Given the description of an element on the screen output the (x, y) to click on. 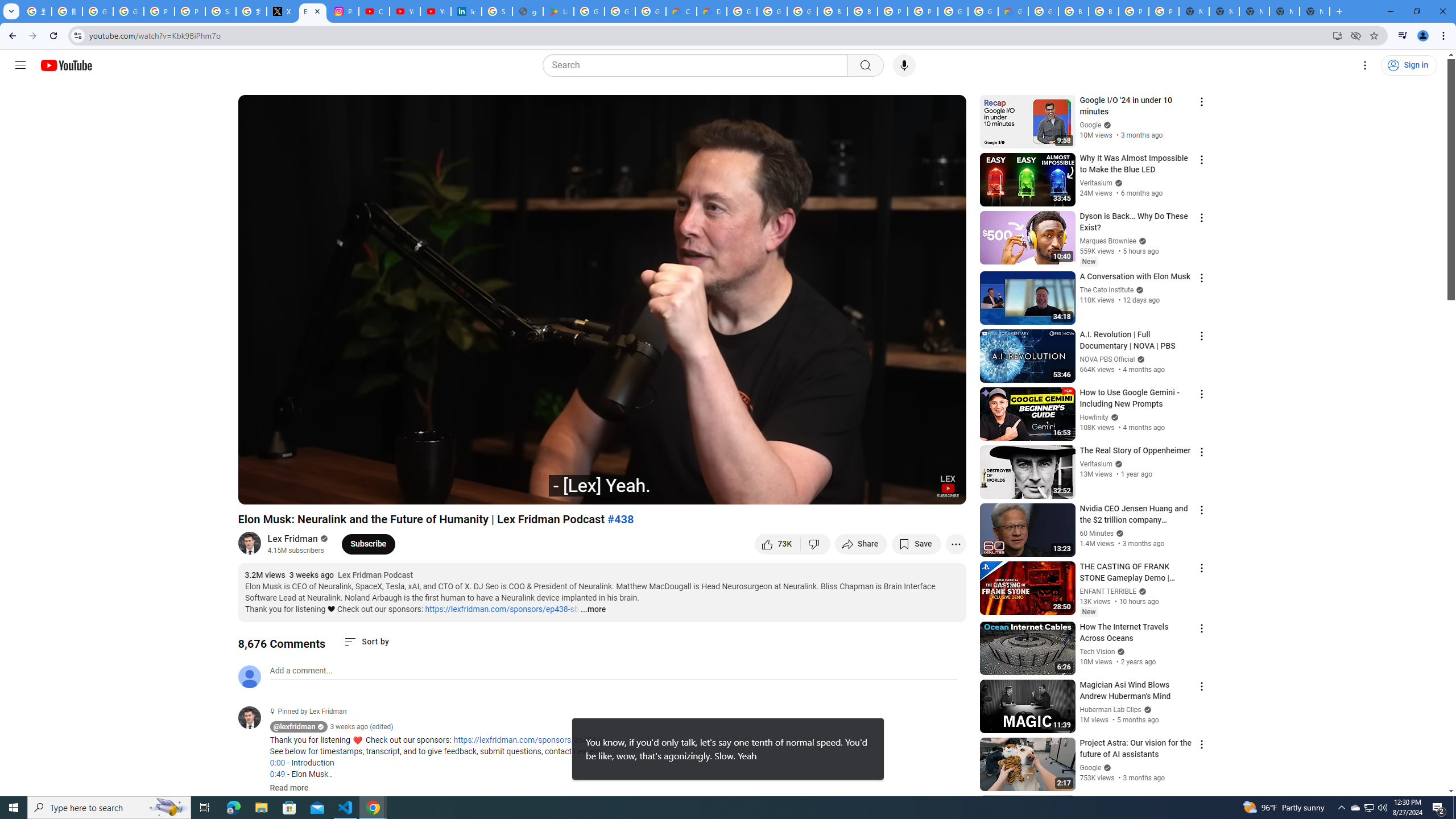
Google Workspace - Specific Terms (619, 11)
Sort comments (366, 641)
Guide (20, 65)
Browse Chrome as a guest - Computer - Google Chrome Help (832, 11)
Subscribe to Lex Fridman. (368, 543)
Autoplay is on (808, 490)
